Given the description of an element on the screen output the (x, y) to click on. 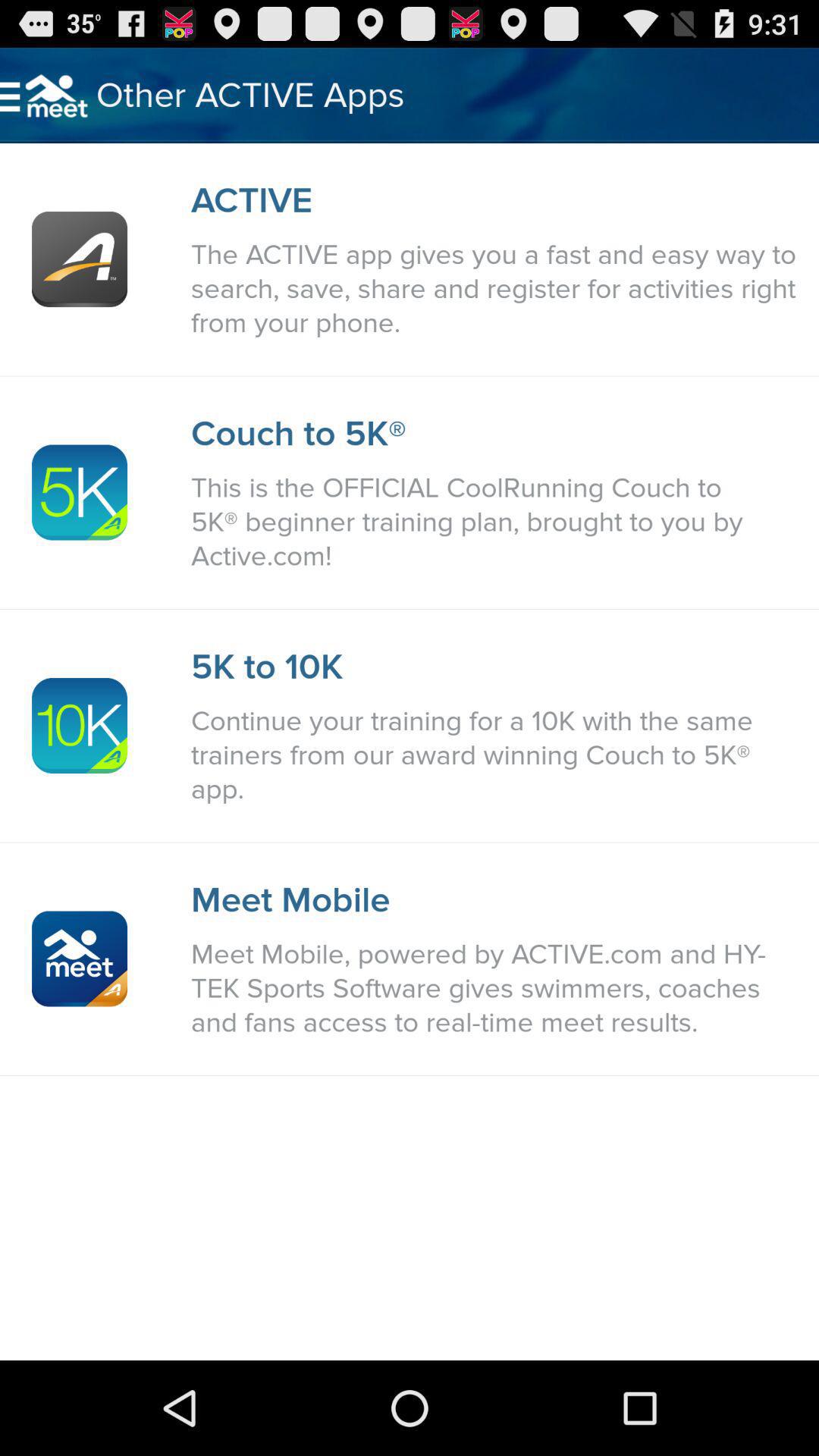
open this is the (497, 522)
